Given the description of an element on the screen output the (x, y) to click on. 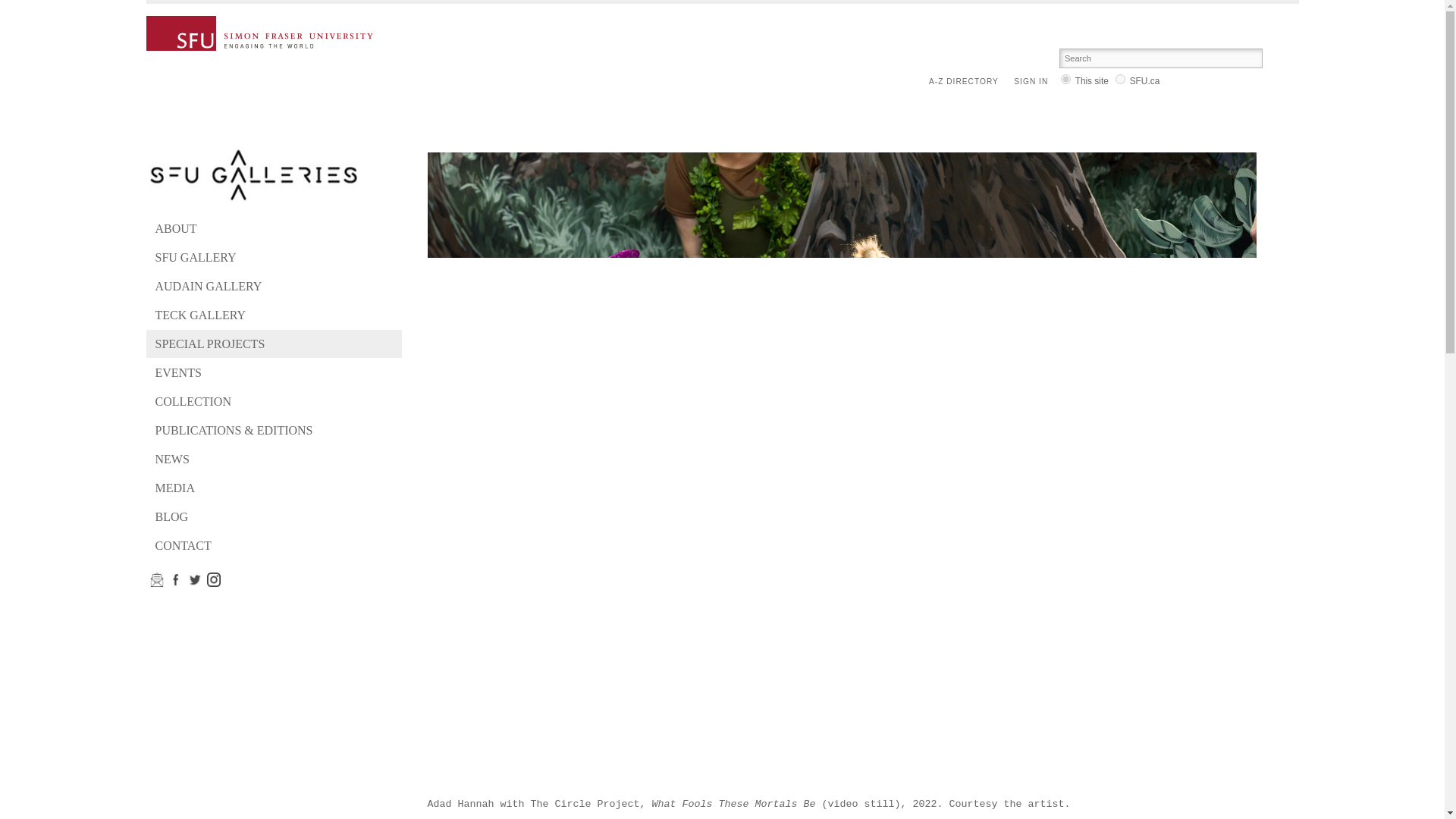
SIGN IN (1034, 82)
site (1065, 79)
Subscribe (213, 579)
Facebook (175, 579)
Twitter (194, 579)
Subscribe (156, 579)
sfu (1120, 79)
A-Z DIRECTORY (967, 82)
